Given the description of an element on the screen output the (x, y) to click on. 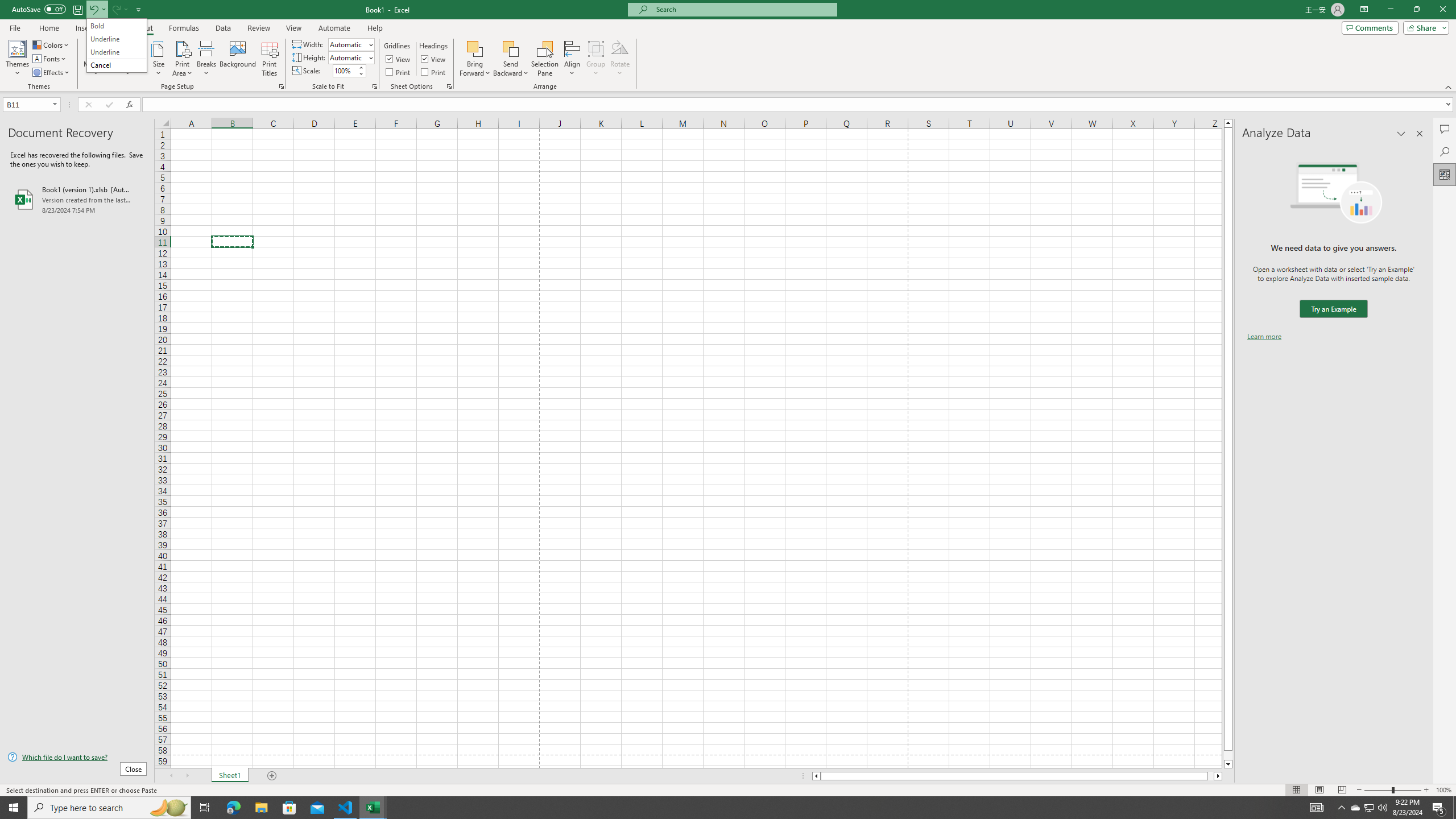
Visual Studio Code - 1 running window (345, 807)
Type here to search (108, 807)
Fonts (49, 58)
Width (347, 44)
Microsoft Edge (233, 807)
